Given the description of an element on the screen output the (x, y) to click on. 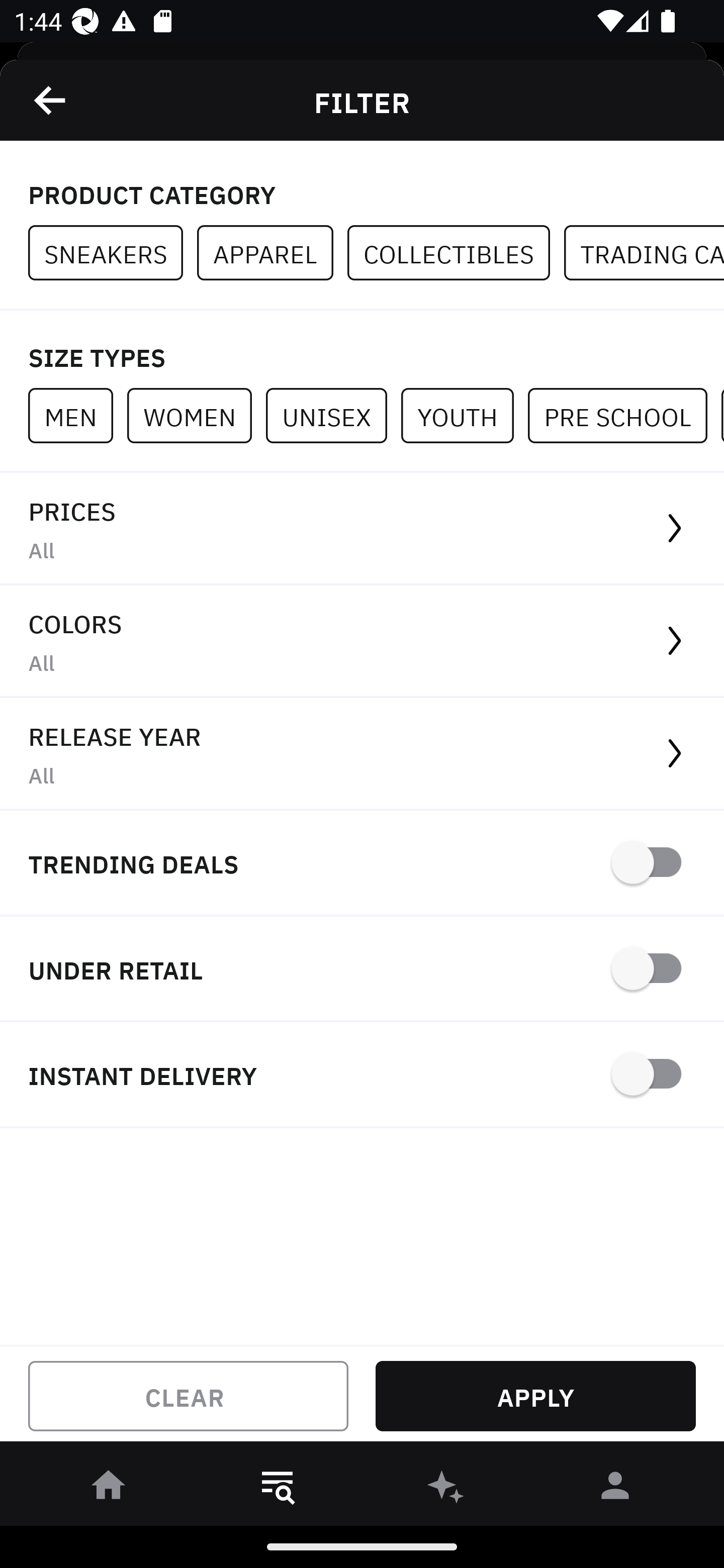
 (50, 100)
SNEAKERS (112, 252)
APPAREL (271, 252)
COLLECTIBLES (455, 252)
TRADING CARDS (643, 252)
MEN (77, 415)
WOMEN (196, 415)
UNISEX (333, 415)
YOUTH (464, 415)
PRE SCHOOL (624, 415)
PRICES All (362, 528)
COLORS All (362, 640)
RELEASE YEAR All (362, 753)
TRENDING DEALS (362, 863)
UNDER RETAIL (362, 969)
INSTANT DELIVERY (362, 1075)
CLEAR  (188, 1396)
APPLY (535, 1396)
󰋜 (108, 1488)
󱎸 (277, 1488)
󰫢 (446, 1488)
󰀄 (615, 1488)
